Given the description of an element on the screen output the (x, y) to click on. 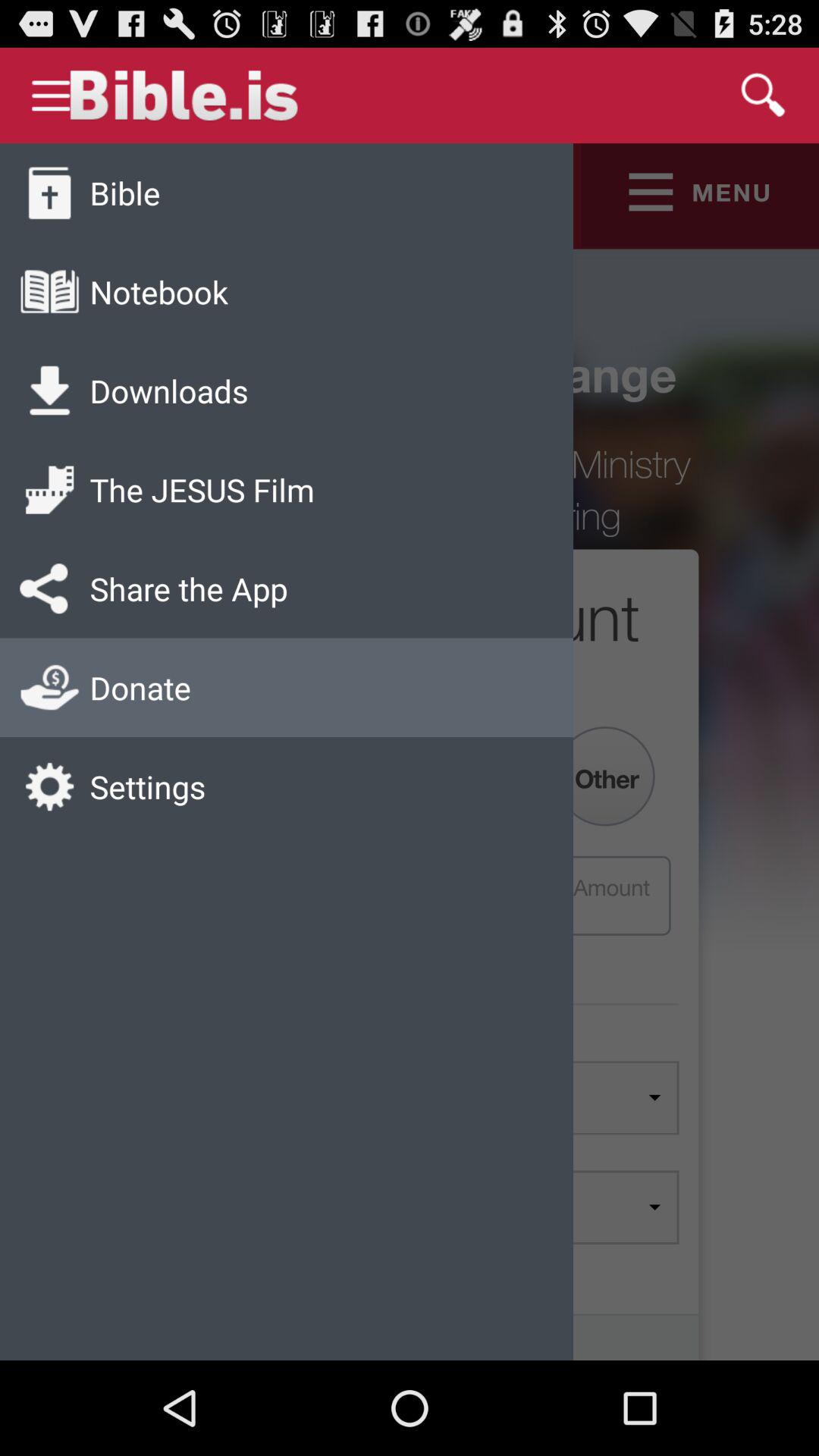
press the the jesus film item (201, 489)
